Given the description of an element on the screen output the (x, y) to click on. 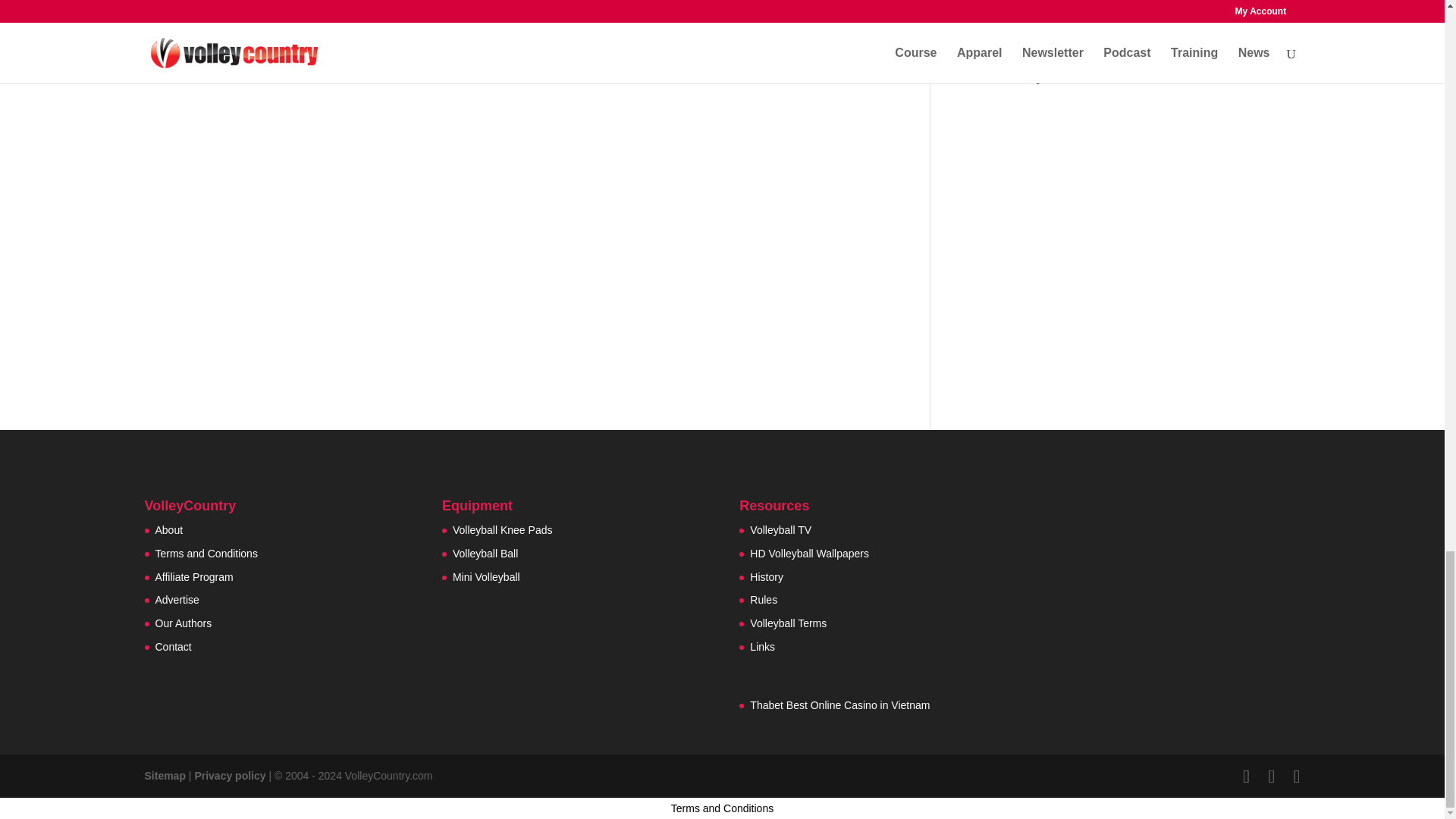
Terms and Conditions (205, 553)
About (168, 530)
Volleyball Terms (788, 623)
Contact (172, 646)
History (766, 576)
Volleyball Ball (485, 553)
Advertise (176, 599)
Rules (763, 599)
HD Volleyball Wallpapers (809, 553)
Volleyball Knee Pads (502, 530)
